Given the description of an element on the screen output the (x, y) to click on. 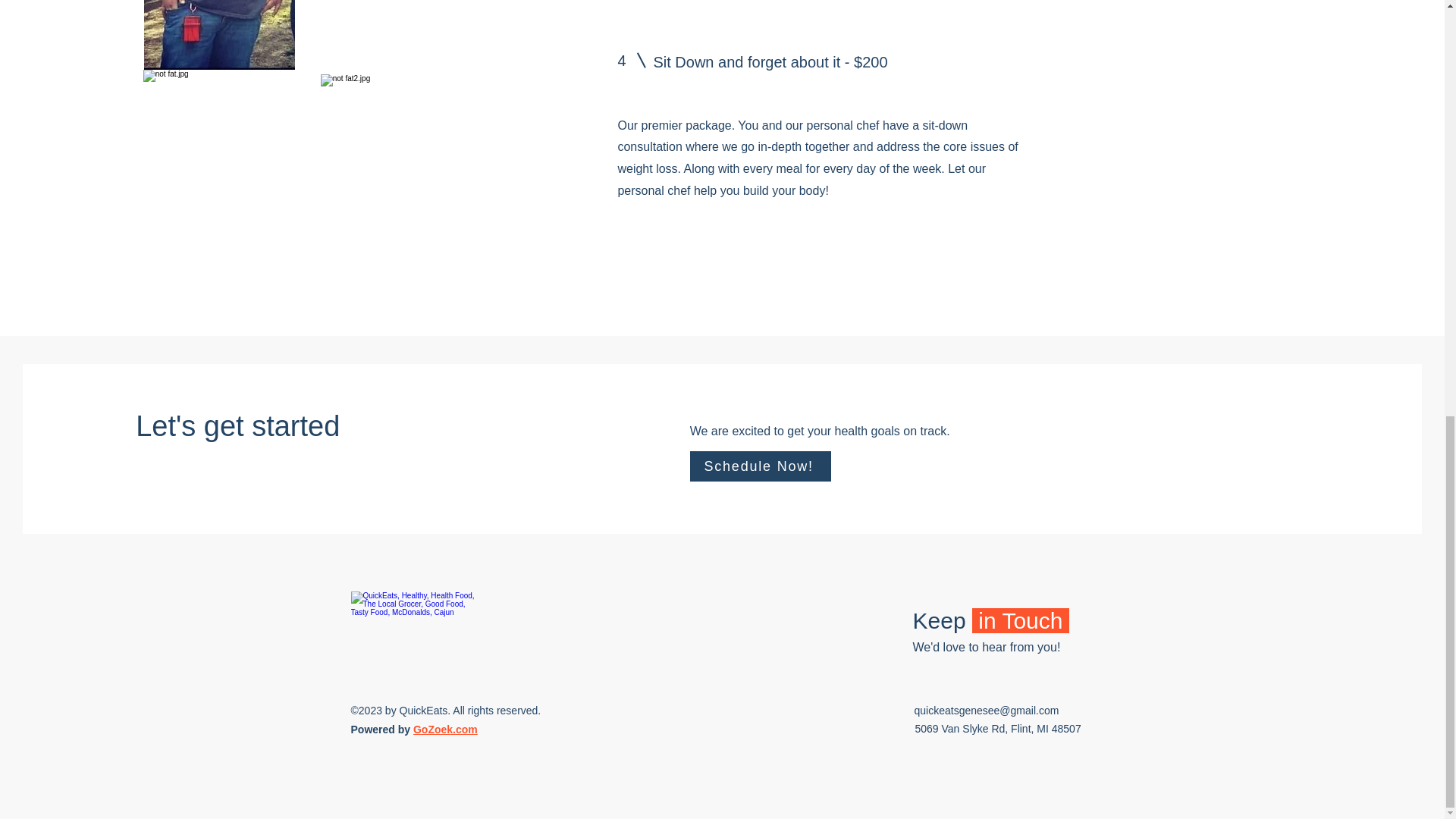
GoZoek.com (445, 729)
Keep  in Touch  (990, 620)
Schedule Now! (760, 466)
